Given the description of an element on the screen output the (x, y) to click on. 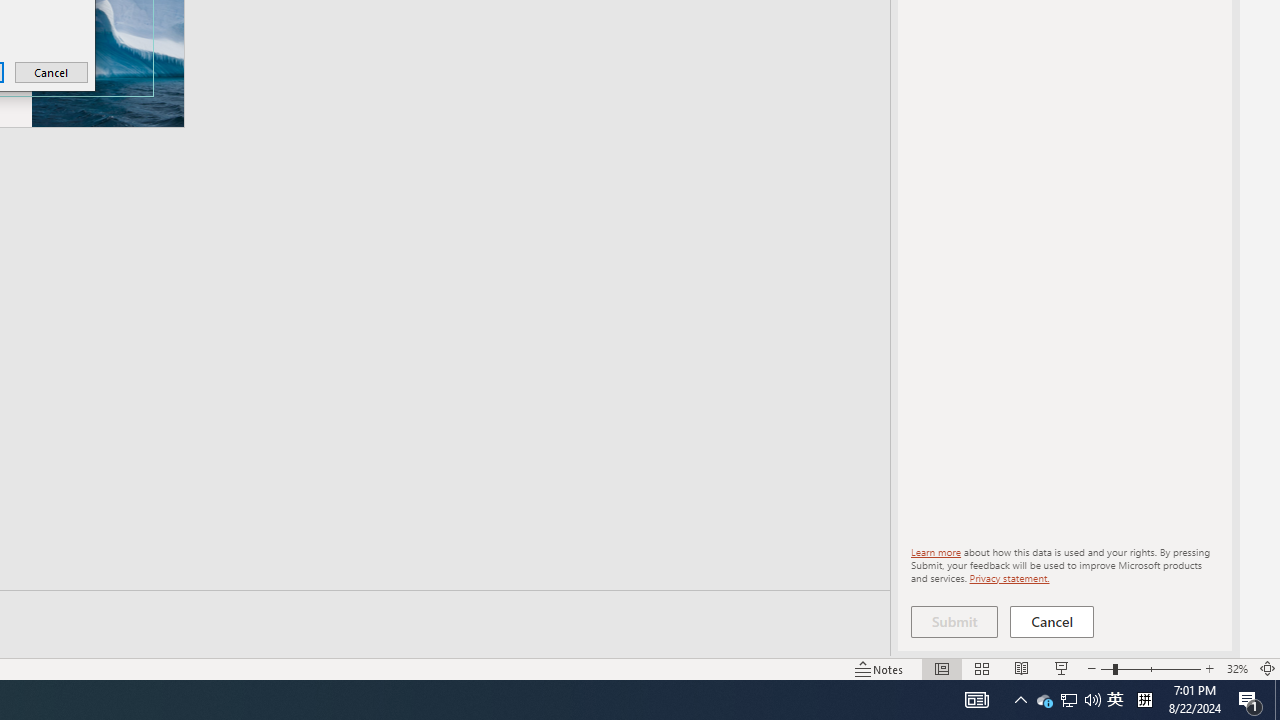
Zoom 32% (1236, 668)
